Given the description of an element on the screen output the (x, y) to click on. 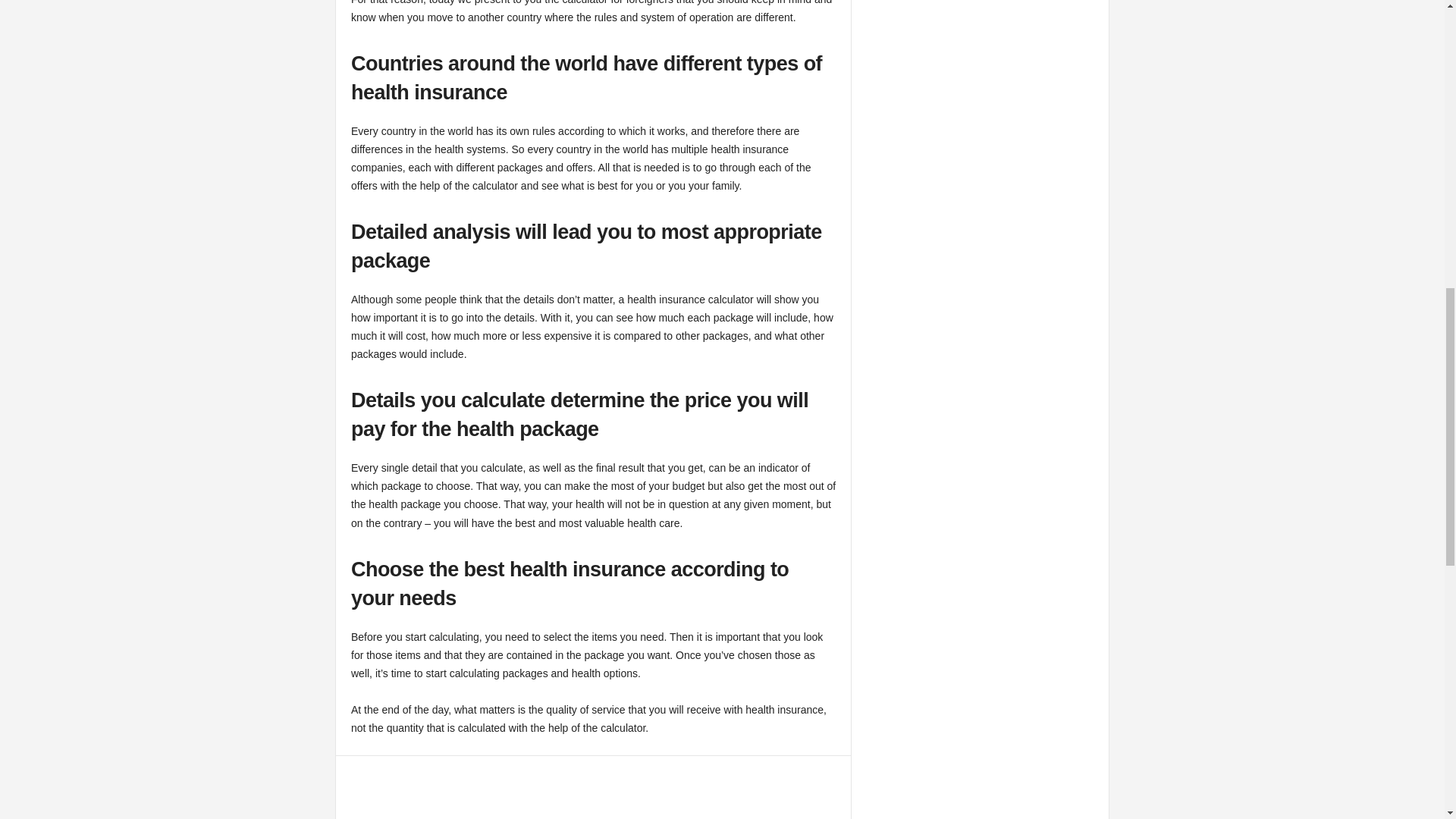
bottomFacebookLike (390, 771)
